Given the description of an element on the screen output the (x, y) to click on. 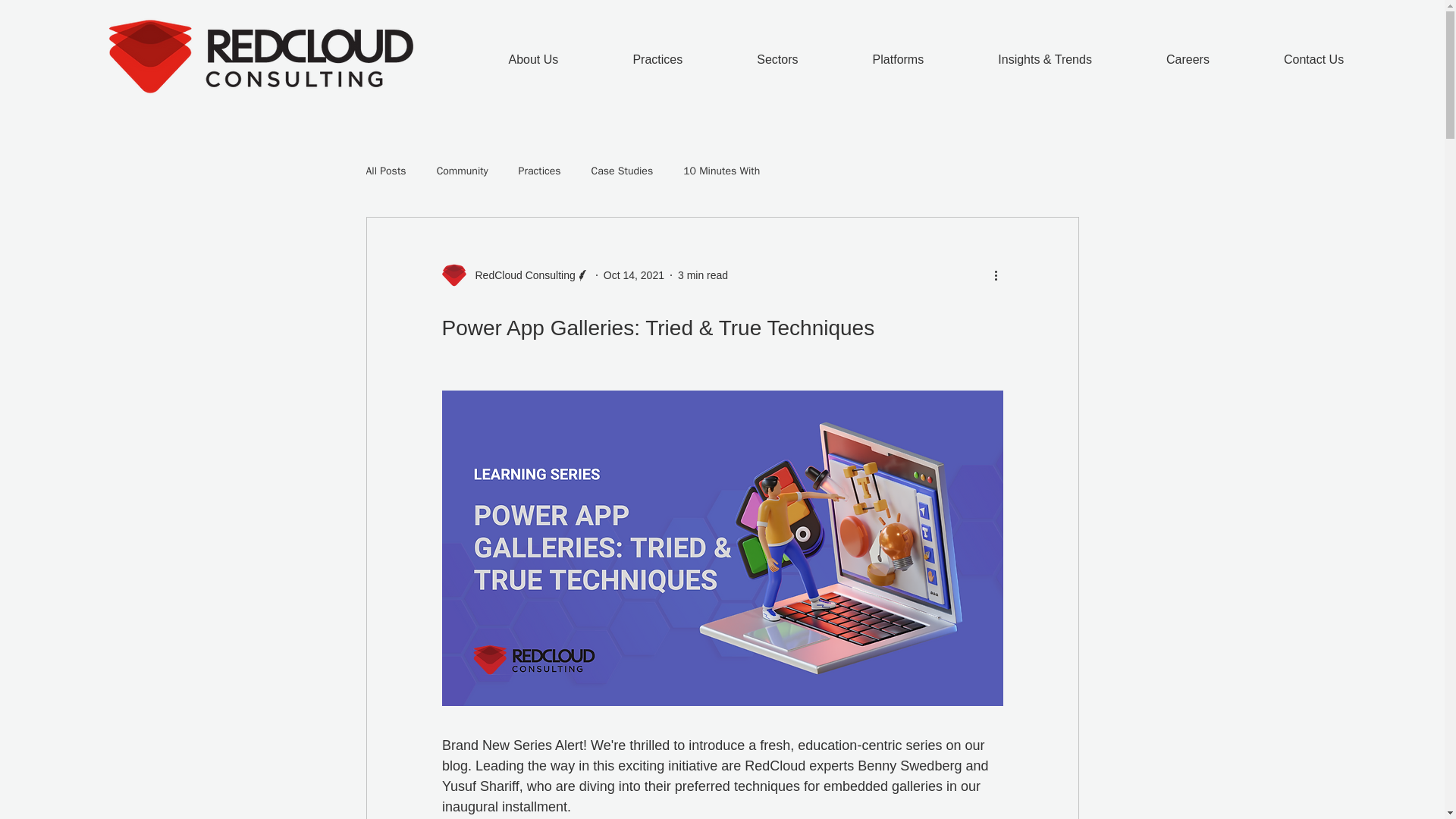
Oct 14, 2021 (633, 275)
10 Minutes With (721, 171)
Careers (1187, 59)
3 min read (703, 275)
Community (461, 171)
RedCloud Consulting (520, 275)
Contact Us (1313, 59)
Sectors (776, 59)
All Posts (385, 171)
Platforms (897, 59)
Case Studies (622, 171)
Practices (539, 171)
